Given the description of an element on the screen output the (x, y) to click on. 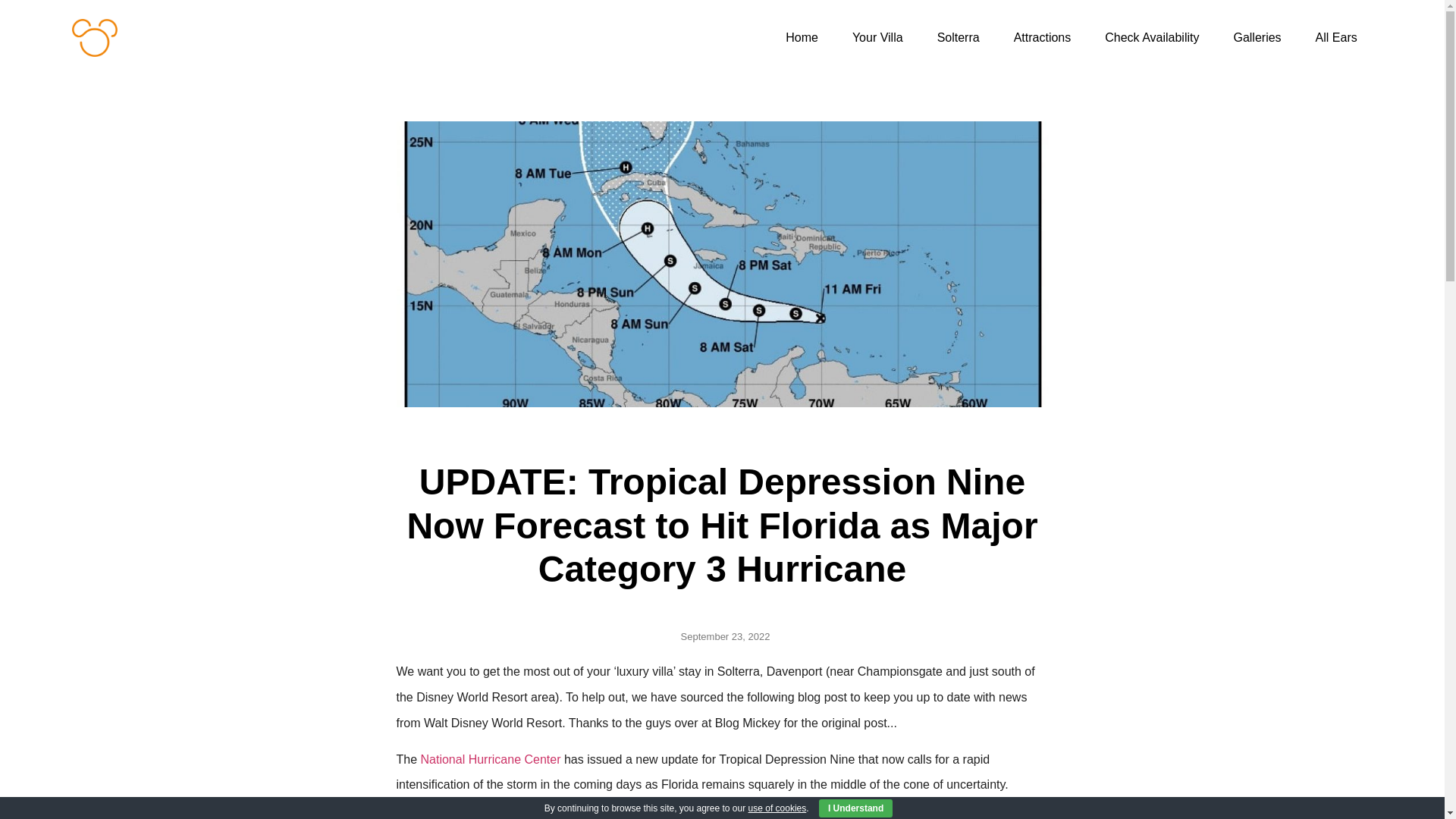
Your Villa (877, 37)
Galleries (1256, 37)
National Hurricane Center (490, 758)
Attractions (1042, 37)
All Ears (1336, 37)
Solterra (957, 37)
September 23, 2022 (722, 636)
Home (801, 37)
Check Availability (1151, 37)
